Given the description of an element on the screen output the (x, y) to click on. 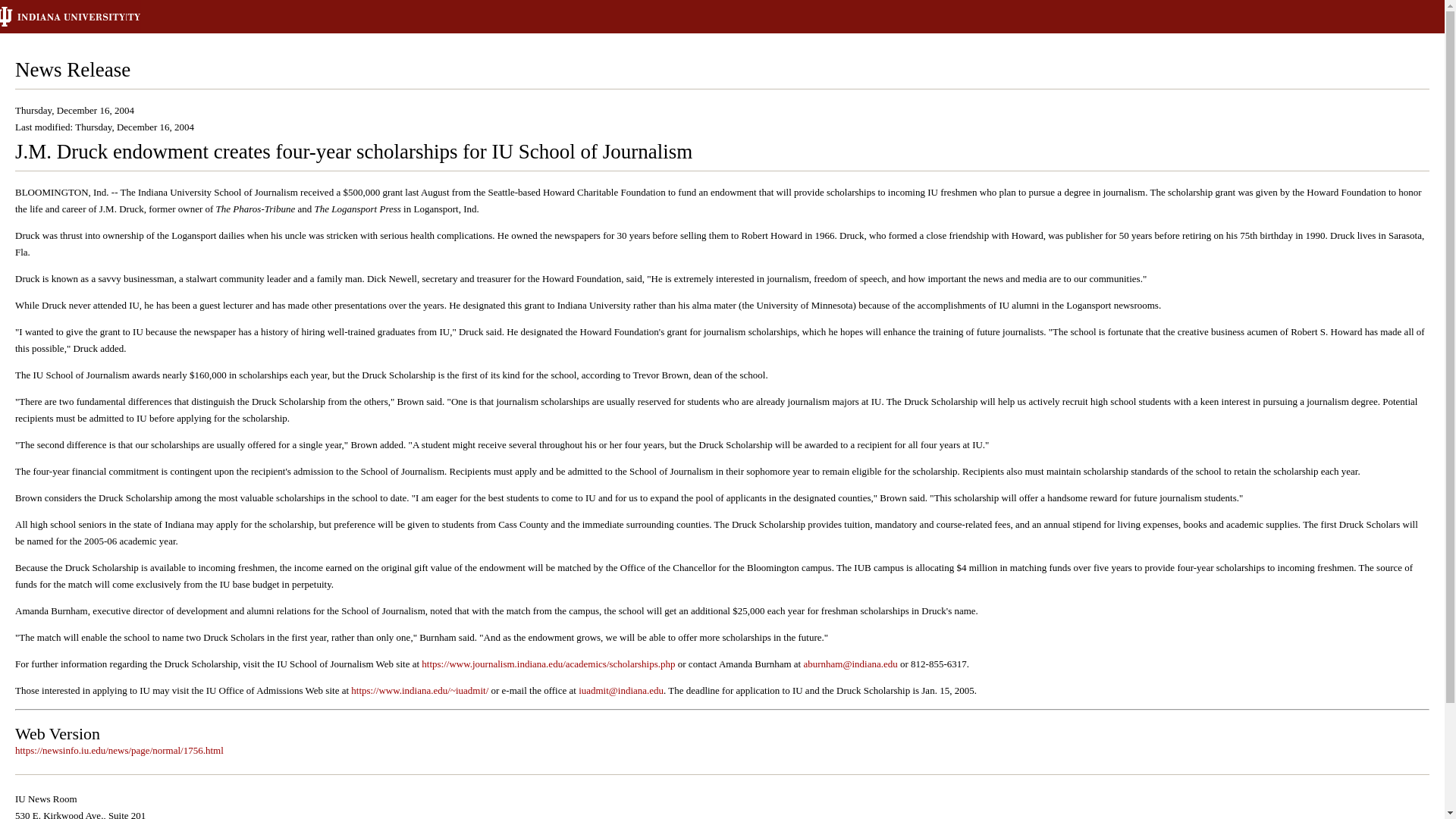
Indiana University (93, 16)
